Given the description of an element on the screen output the (x, y) to click on. 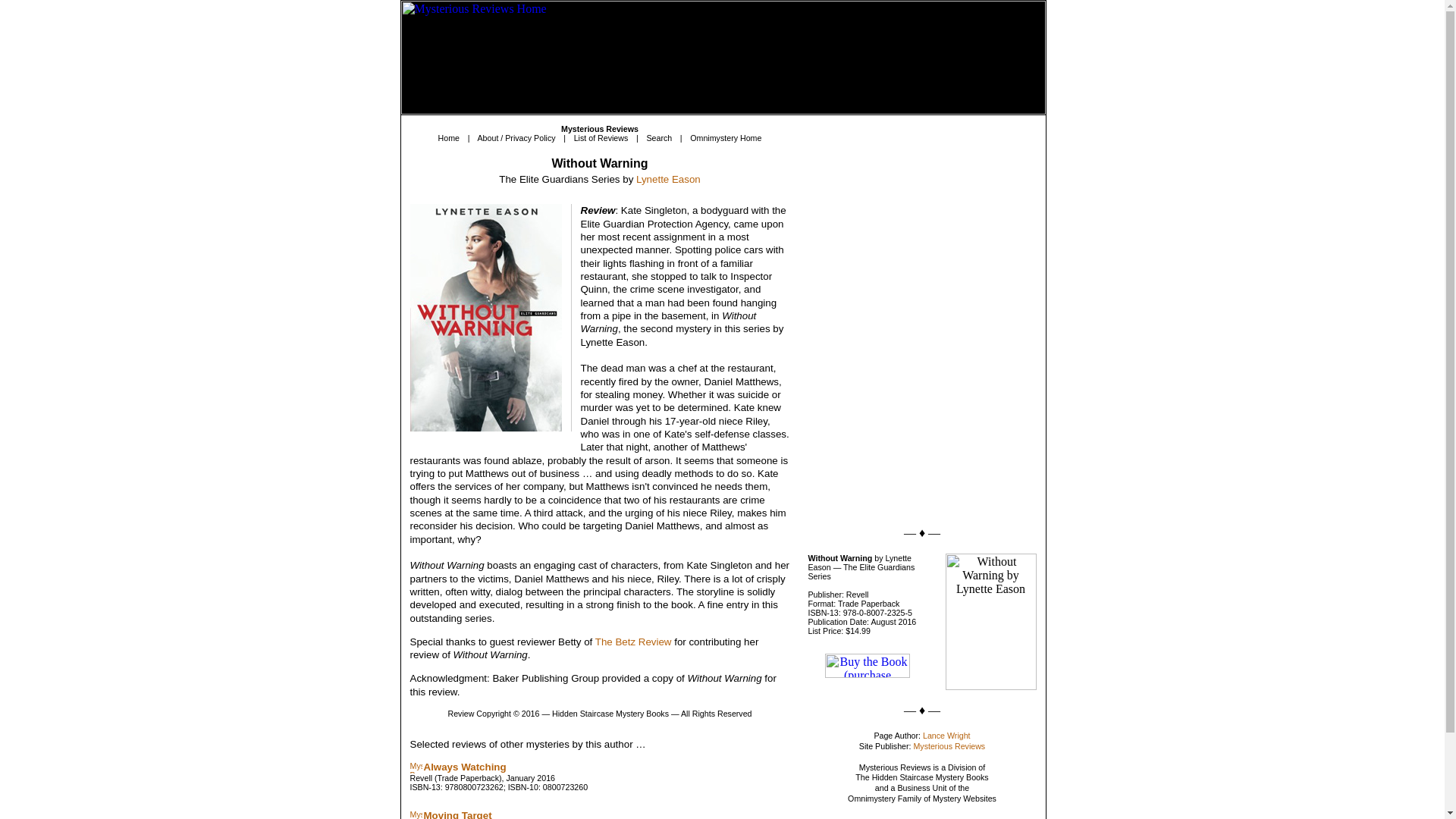
Lance Wright (947, 735)
Lynette Eason (668, 179)
Mysterious Reviews Home (722, 57)
Moving Target (457, 814)
Always Watching (464, 767)
List of Reviews (600, 137)
Omnimystery Home (725, 137)
Home (449, 137)
Search (658, 137)
Mysterious Reviews (948, 746)
